Given the description of an element on the screen output the (x, y) to click on. 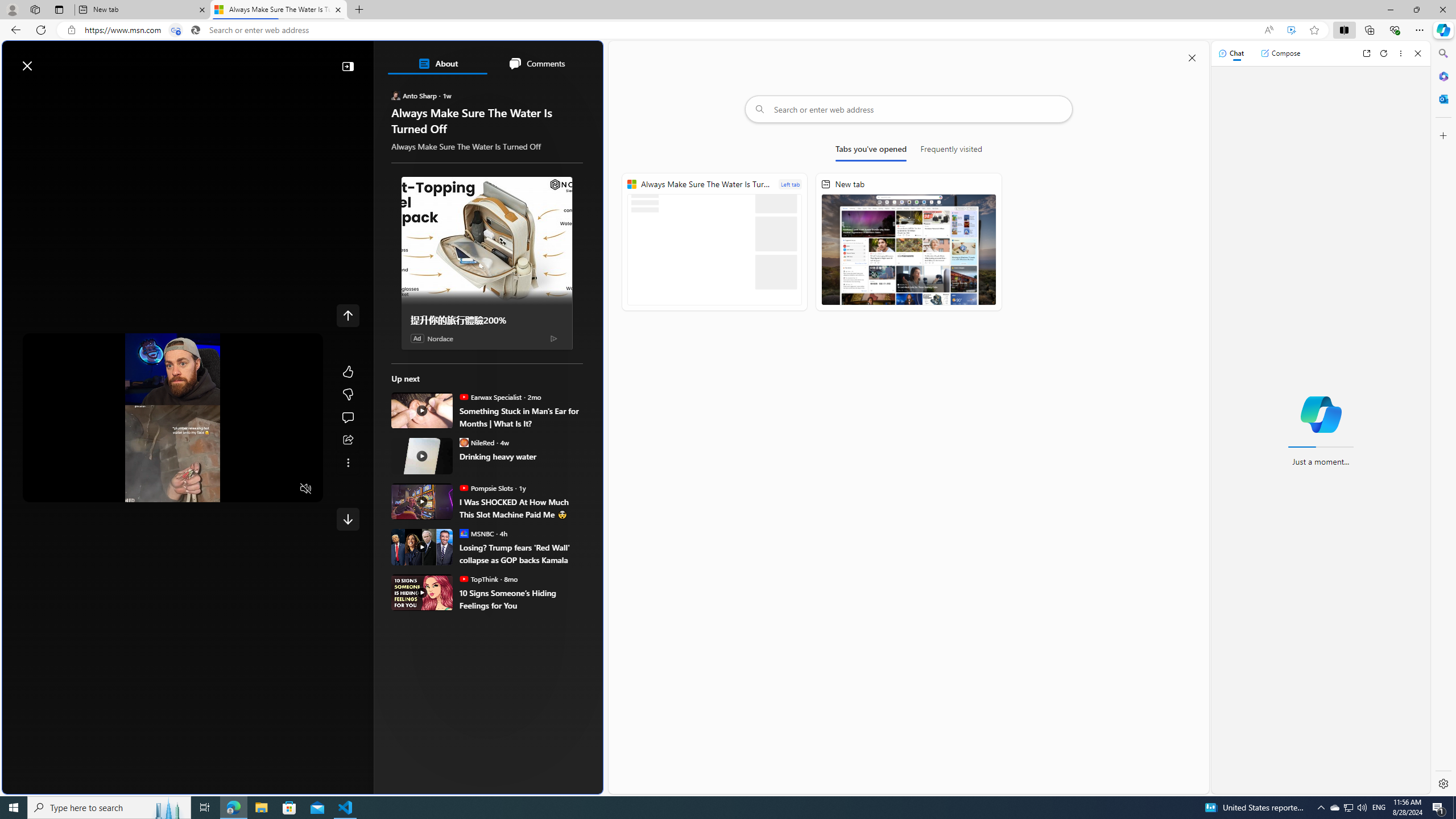
Something Stuck in Man's Ear for Months | What Is It? (521, 417)
Seek Back (62, 488)
Share this story (347, 440)
About (437, 63)
Tabs in split screen (175, 29)
Comments (536, 63)
